Given the description of an element on the screen output the (x, y) to click on. 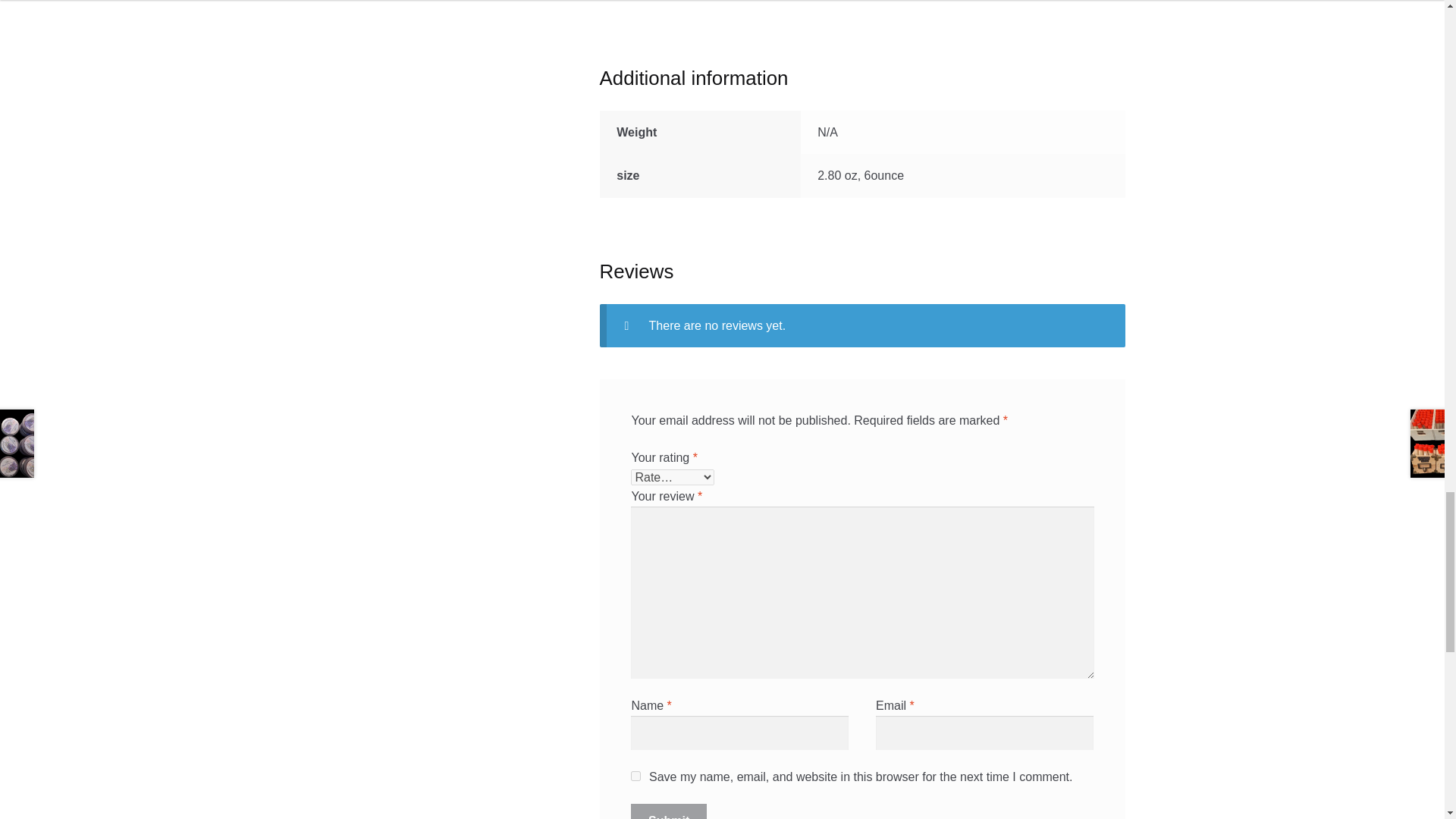
Submit (668, 811)
yes (635, 776)
